Given the description of an element on the screen output the (x, y) to click on. 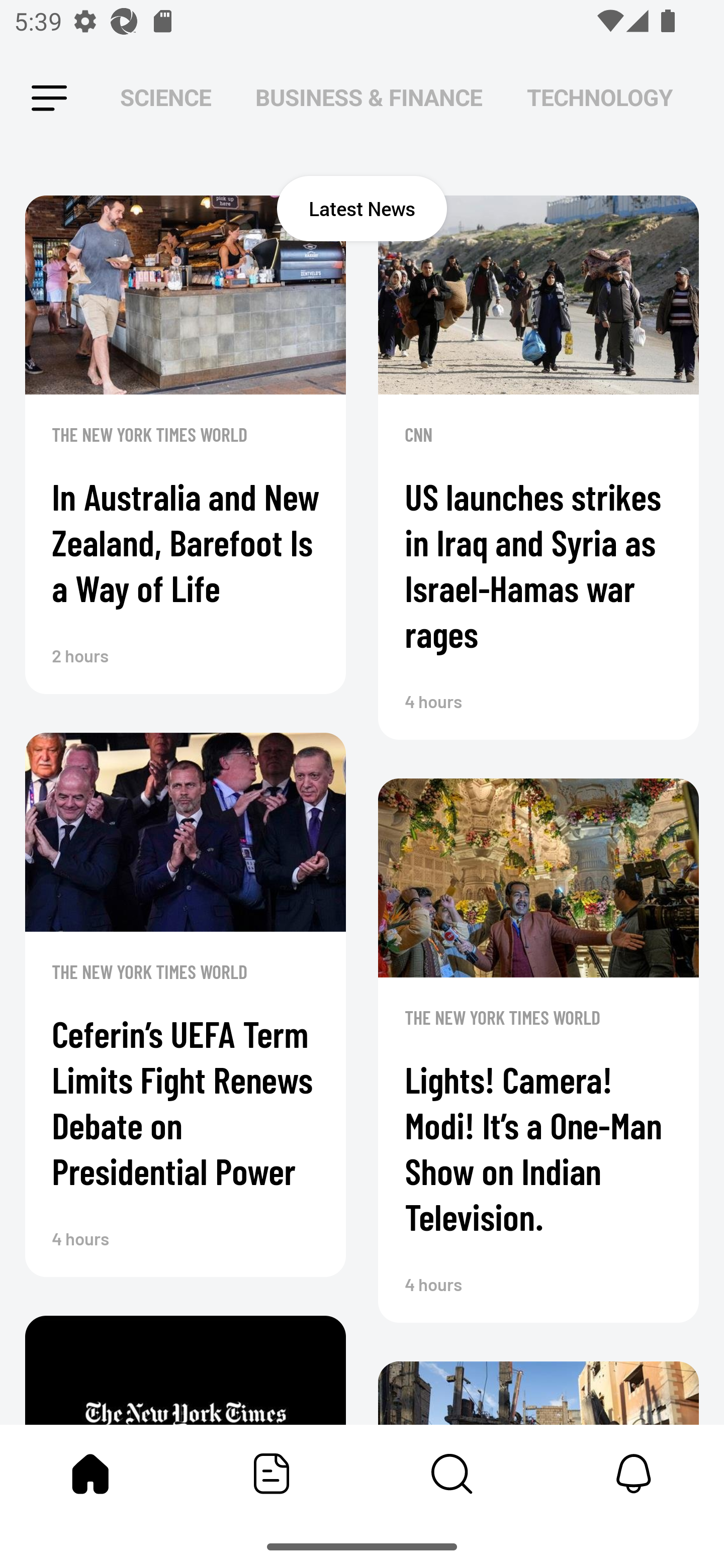
Leading Icon (49, 98)
SCIENCE (165, 97)
BUSINESS & FINANCE (368, 97)
TECHNOLOGY (599, 97)
Latest News (361, 208)
Featured (271, 1473)
Content Store (452, 1473)
Notifications (633, 1473)
